Given the description of an element on the screen output the (x, y) to click on. 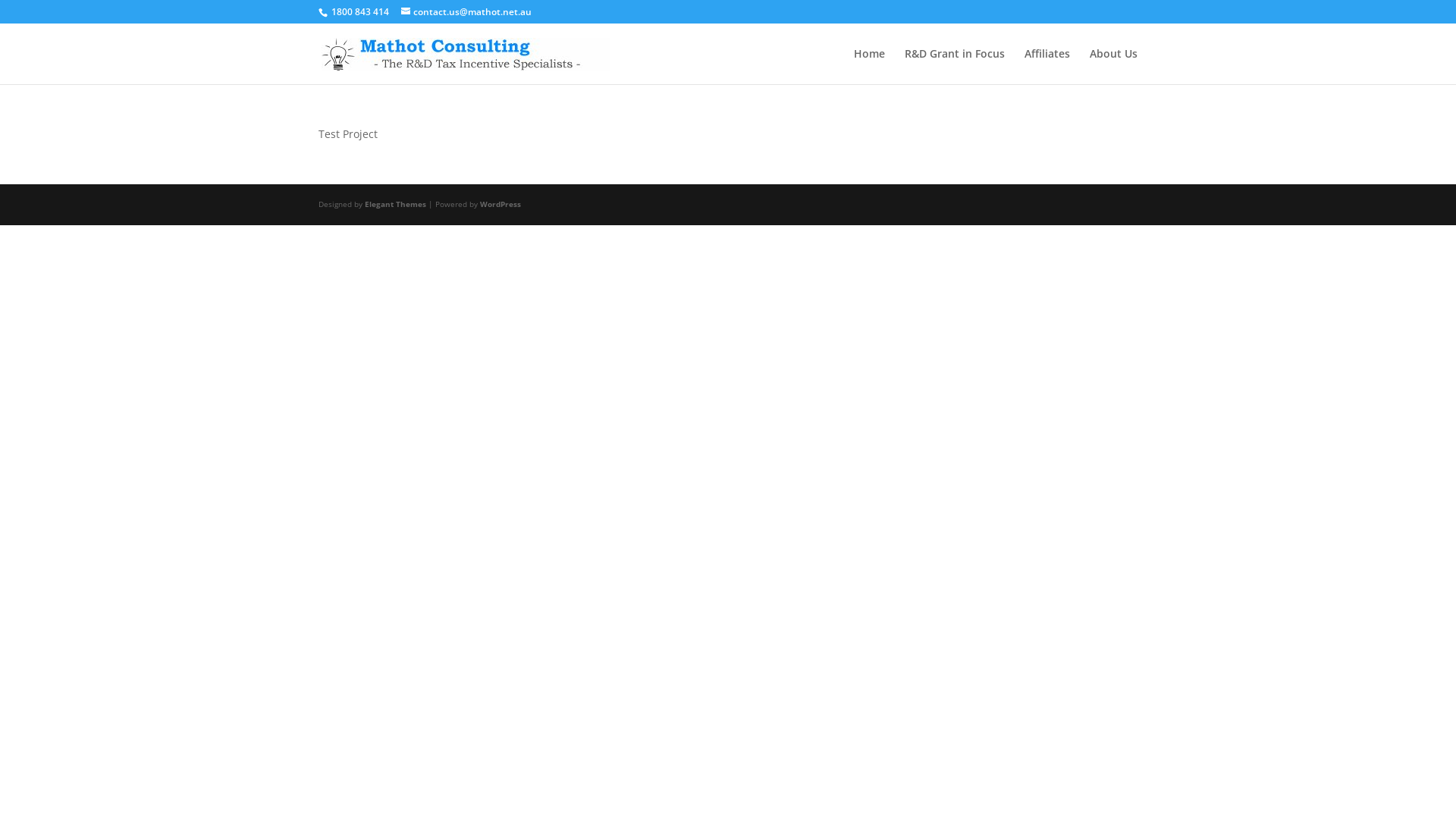
Affiliates Element type: text (1047, 66)
contact.us@mathot.net.au Element type: text (466, 11)
Elegant Themes Element type: text (395, 203)
Home Element type: text (868, 66)
WordPress Element type: text (500, 203)
R&D Grant in Focus Element type: text (954, 66)
About Us Element type: text (1113, 66)
